Given the description of an element on the screen output the (x, y) to click on. 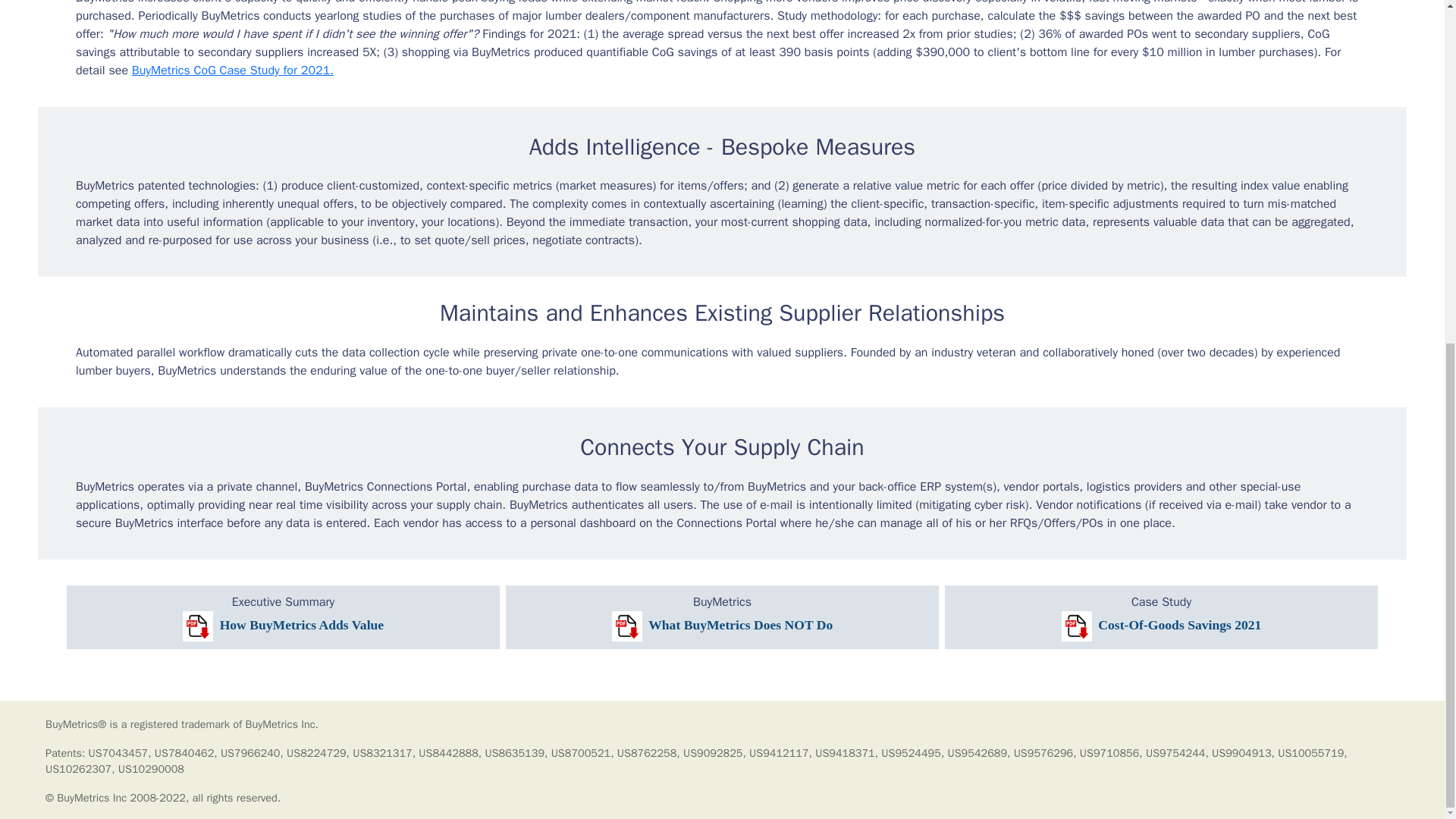
BuyMetrics CoG Case Study for 2021. (232, 70)
  How BuyMetrics Adds Value (283, 624)
  What BuyMetrics Does NOT Do (721, 624)
  Cost-Of-Goods Savings 2021 (1161, 624)
